Given the description of an element on the screen output the (x, y) to click on. 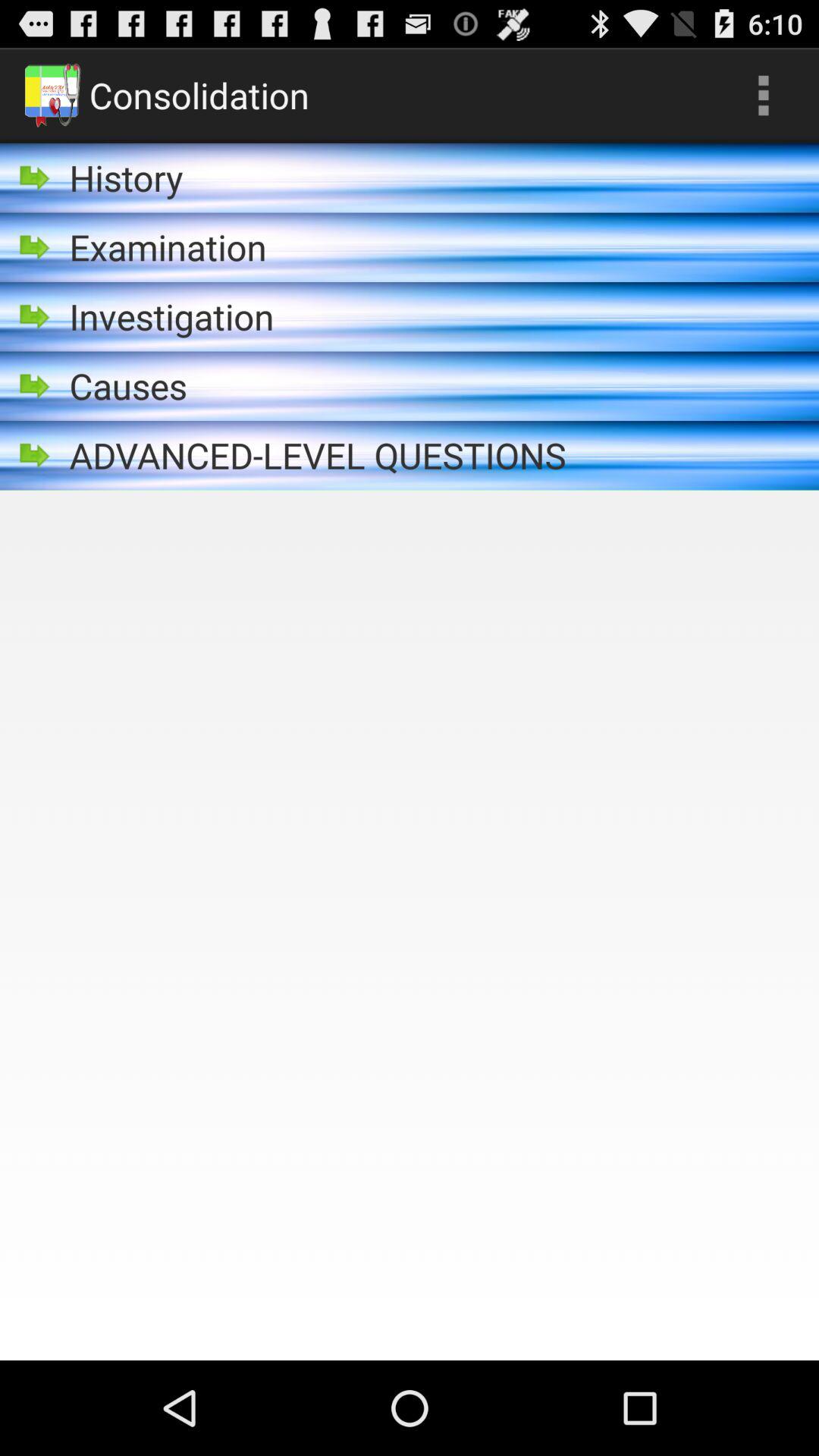
open the app next to consolidation (763, 95)
